Given the description of an element on the screen output the (x, y) to click on. 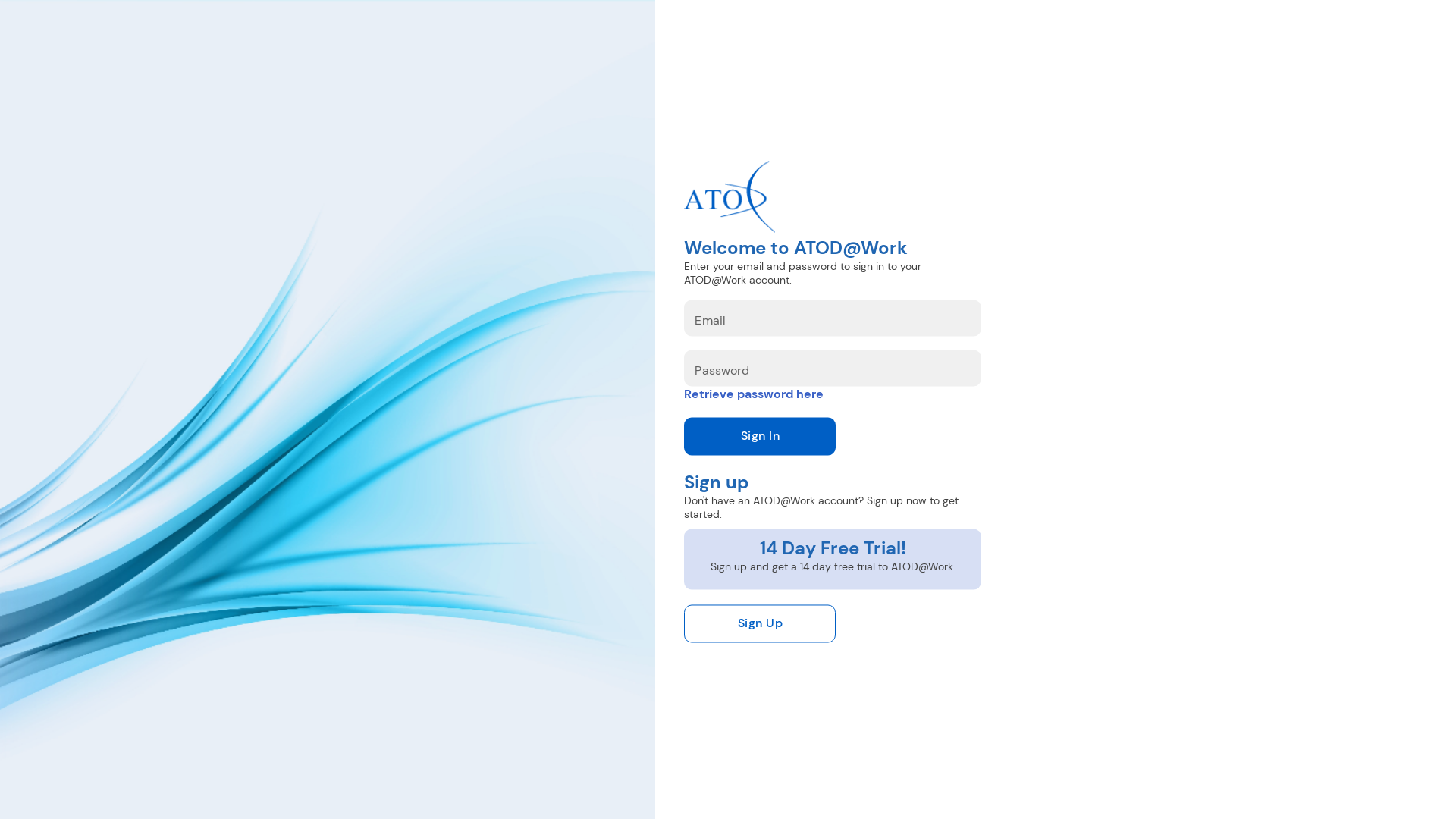
Retrieve password here Element type: text (753, 394)
Sign In Element type: text (759, 436)
Sign Up Element type: text (759, 624)
Sign Up Element type: text (832, 624)
